Given the description of an element on the screen output the (x, y) to click on. 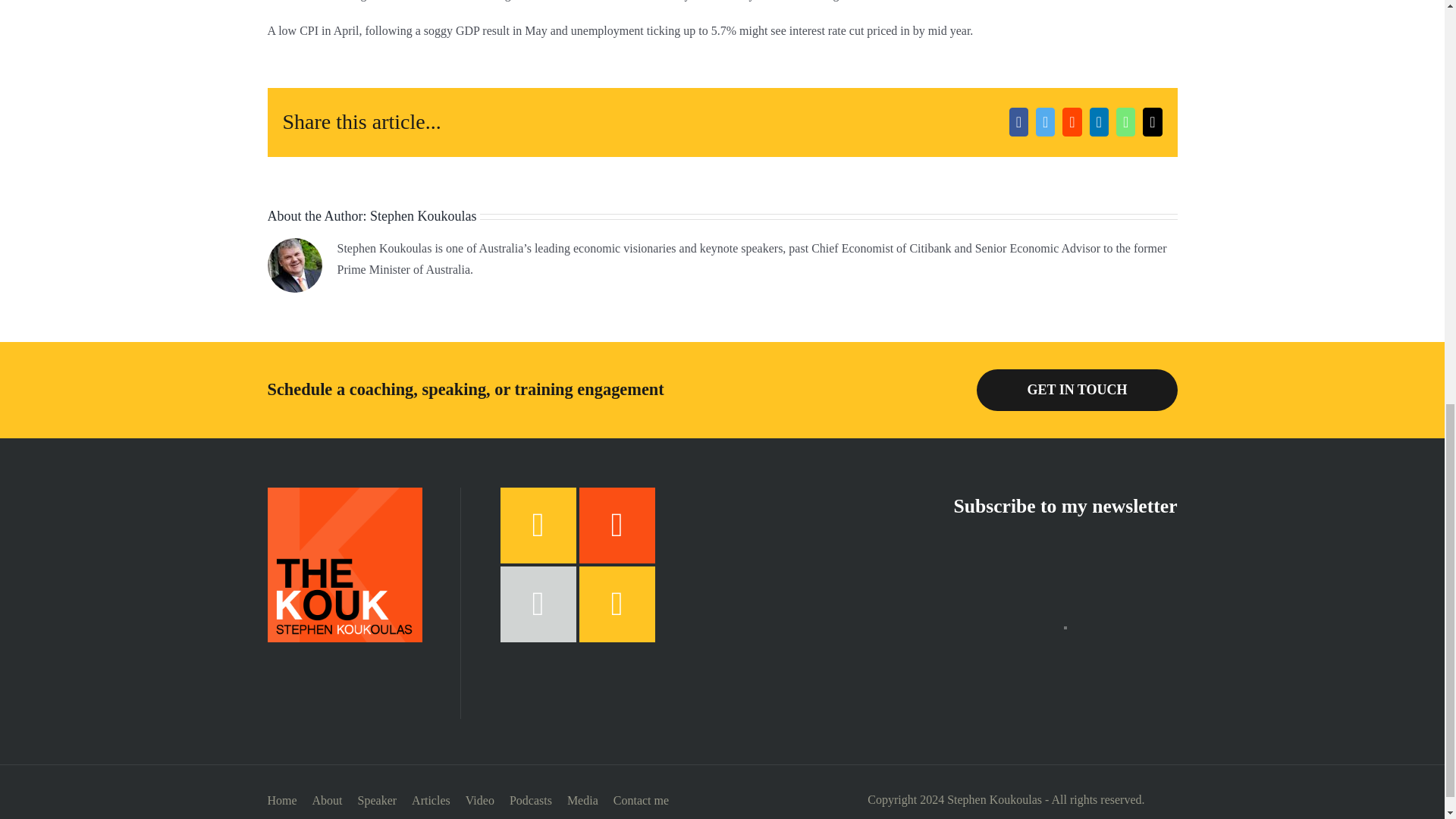
GET IN TOUCH (1076, 390)
Posts by Stephen Koukoulas (422, 215)
Stephen Koukoulas (422, 215)
